Given the description of an element on the screen output the (x, y) to click on. 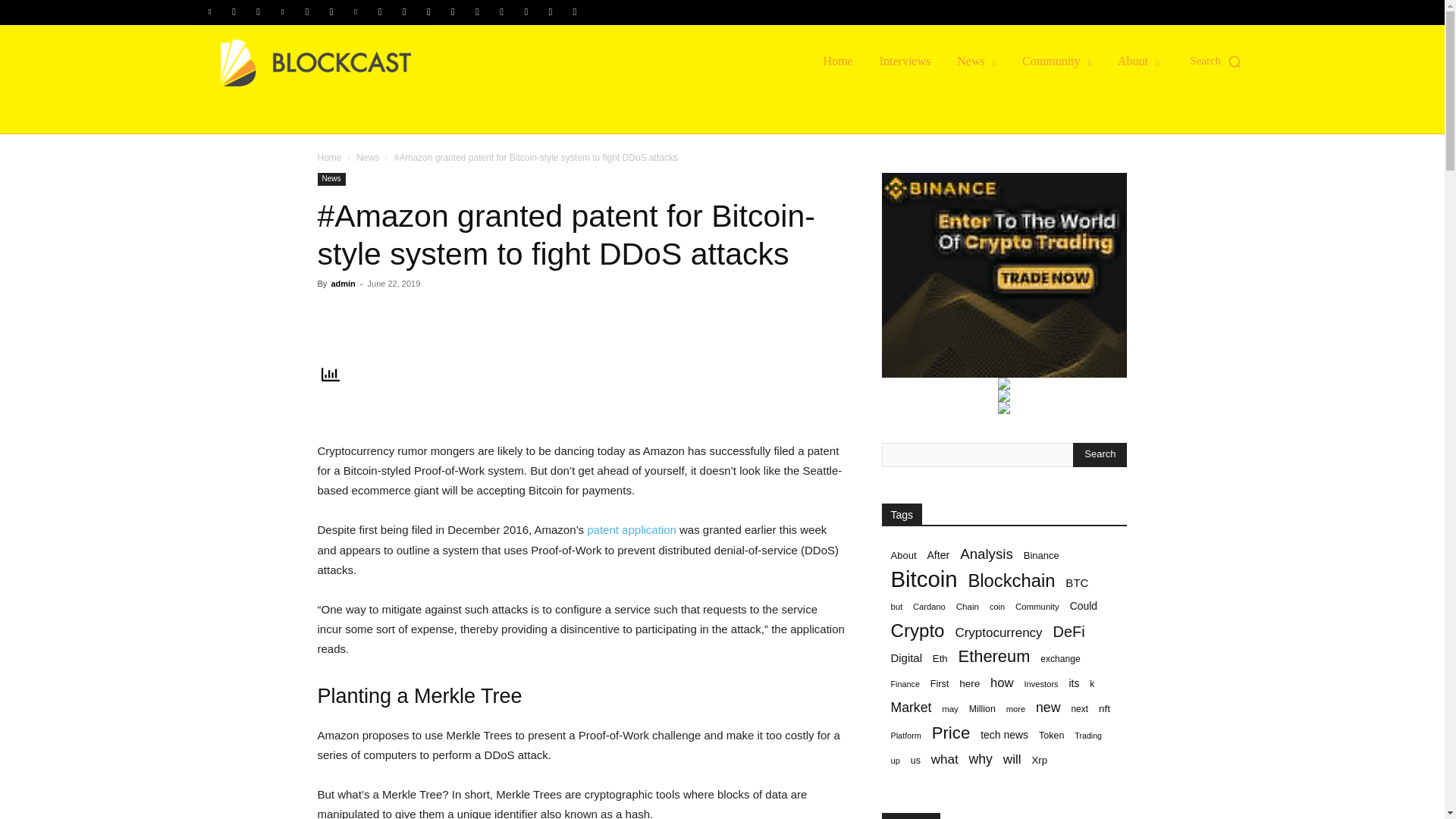
Telegram (428, 12)
Linkedin (283, 12)
Naver (331, 12)
RSS (404, 12)
Mail (306, 12)
Search (1099, 454)
Instagram (258, 12)
Pinterest (355, 12)
Facebook (234, 12)
Reddit (379, 12)
Blogger (210, 12)
Twitter (477, 12)
Tumblr (452, 12)
